Given the description of an element on the screen output the (x, y) to click on. 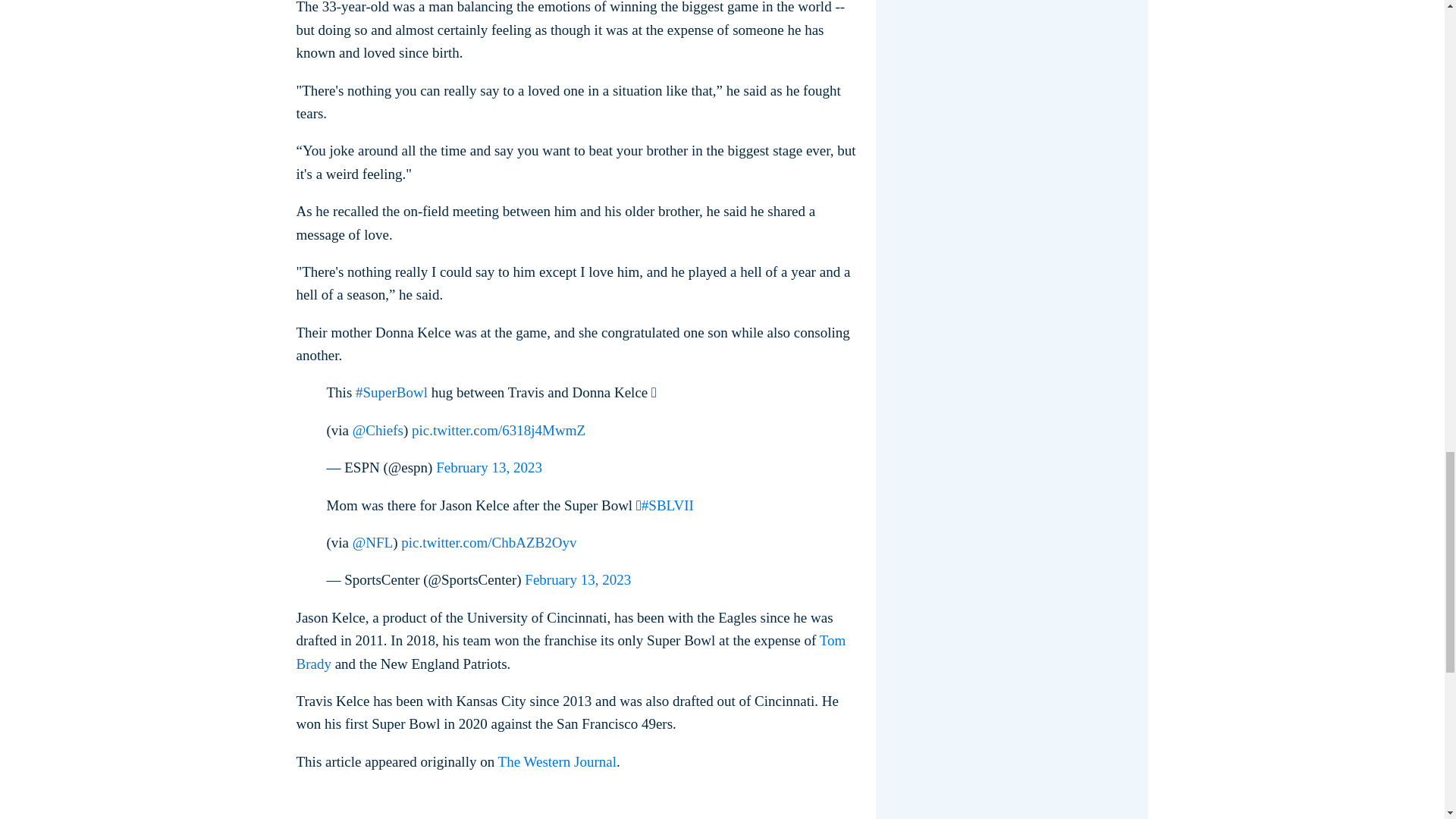
Tom Brady (570, 651)
February 13, 2023 (577, 579)
February 13, 2023 (488, 467)
The Western Journal (556, 761)
